Given the description of an element on the screen output the (x, y) to click on. 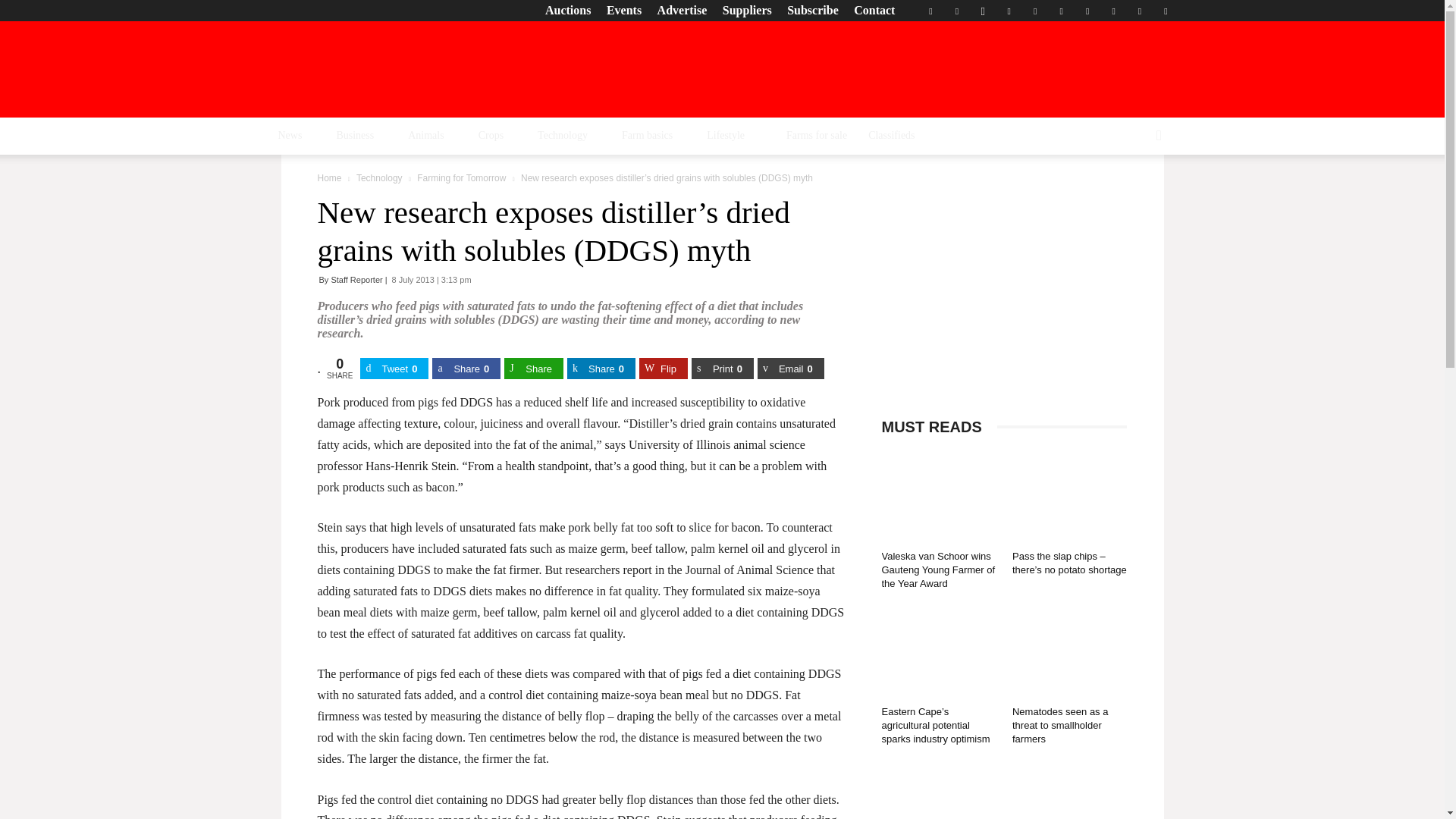
TikTok (1087, 10)
RSS (1061, 10)
Instagram (982, 10)
Linkedin (1008, 10)
Facebook (930, 10)
Flipboard (956, 10)
Pinterest (1034, 10)
